Given the description of an element on the screen output the (x, y) to click on. 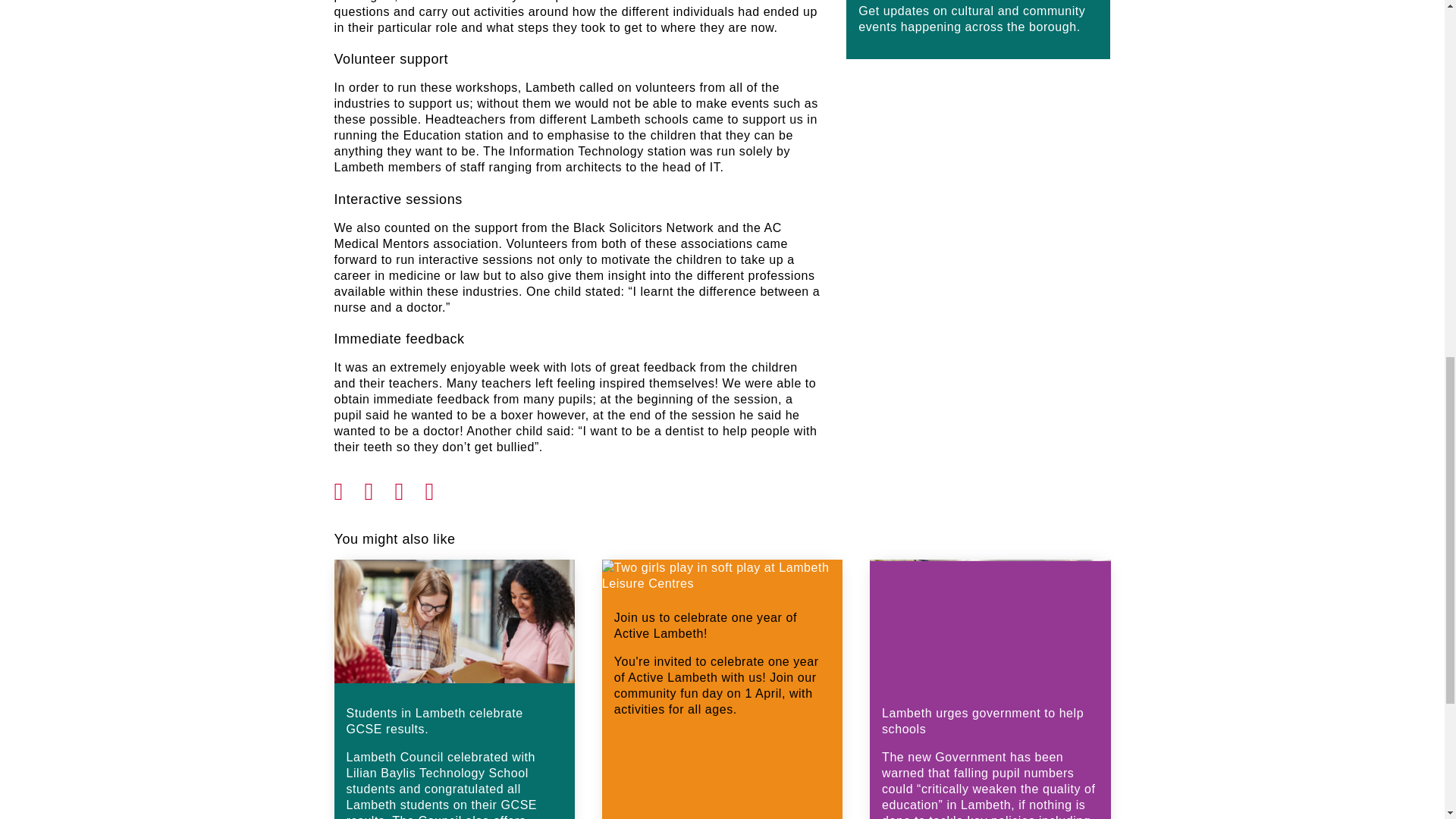
Join us to celebrate one year of Active Lambeth! (722, 689)
share this on twitter (379, 486)
share this on Facebook (348, 486)
Students in Lambeth celebrate GCSE results. (453, 689)
Lambeth urges government to help schools (989, 689)
share this on google plus (409, 486)
